Given the description of an element on the screen output the (x, y) to click on. 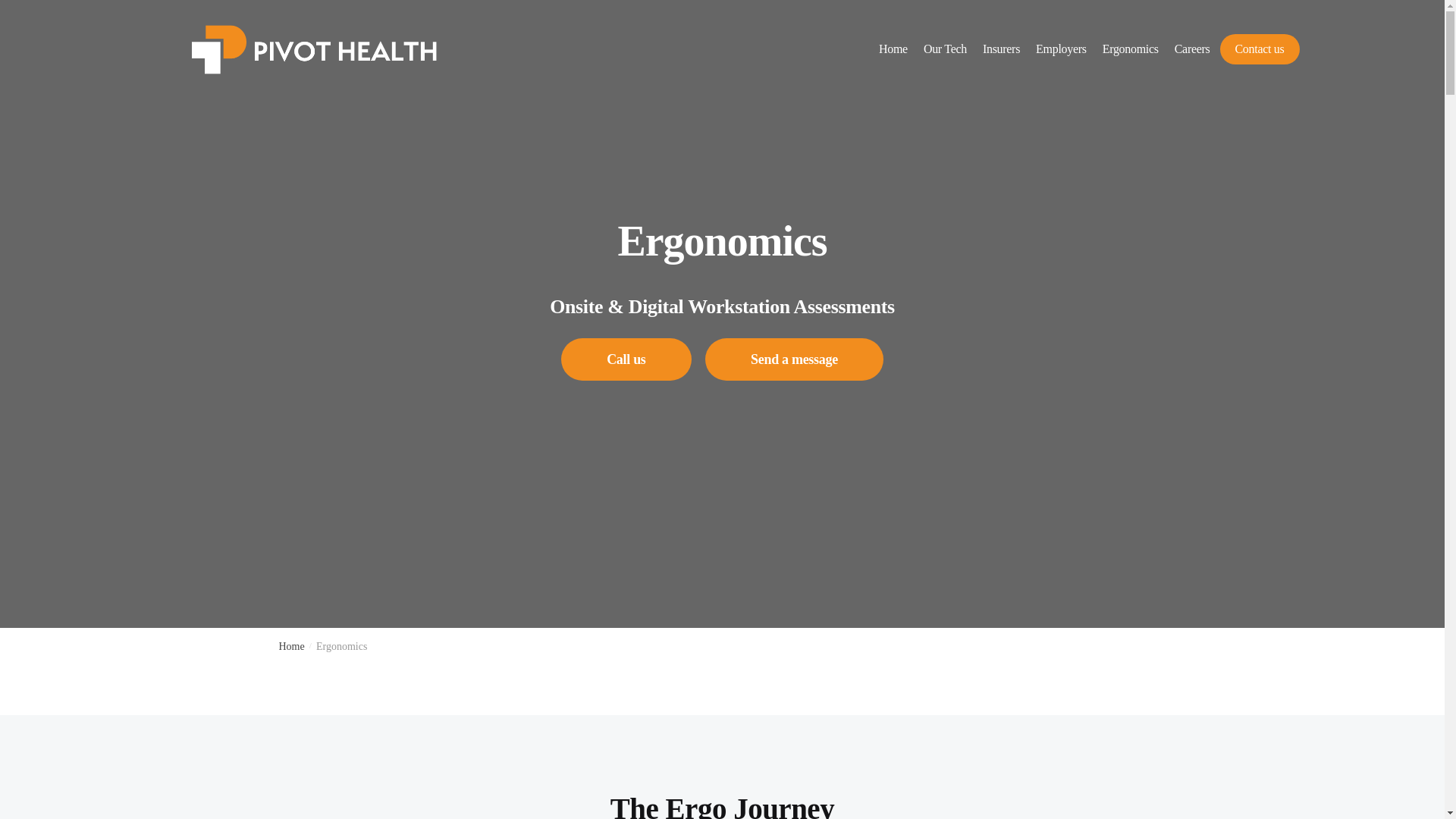
Send a message (793, 359)
Call us (625, 359)
Contact us (1259, 49)
Home (291, 645)
